Given the description of an element on the screen output the (x, y) to click on. 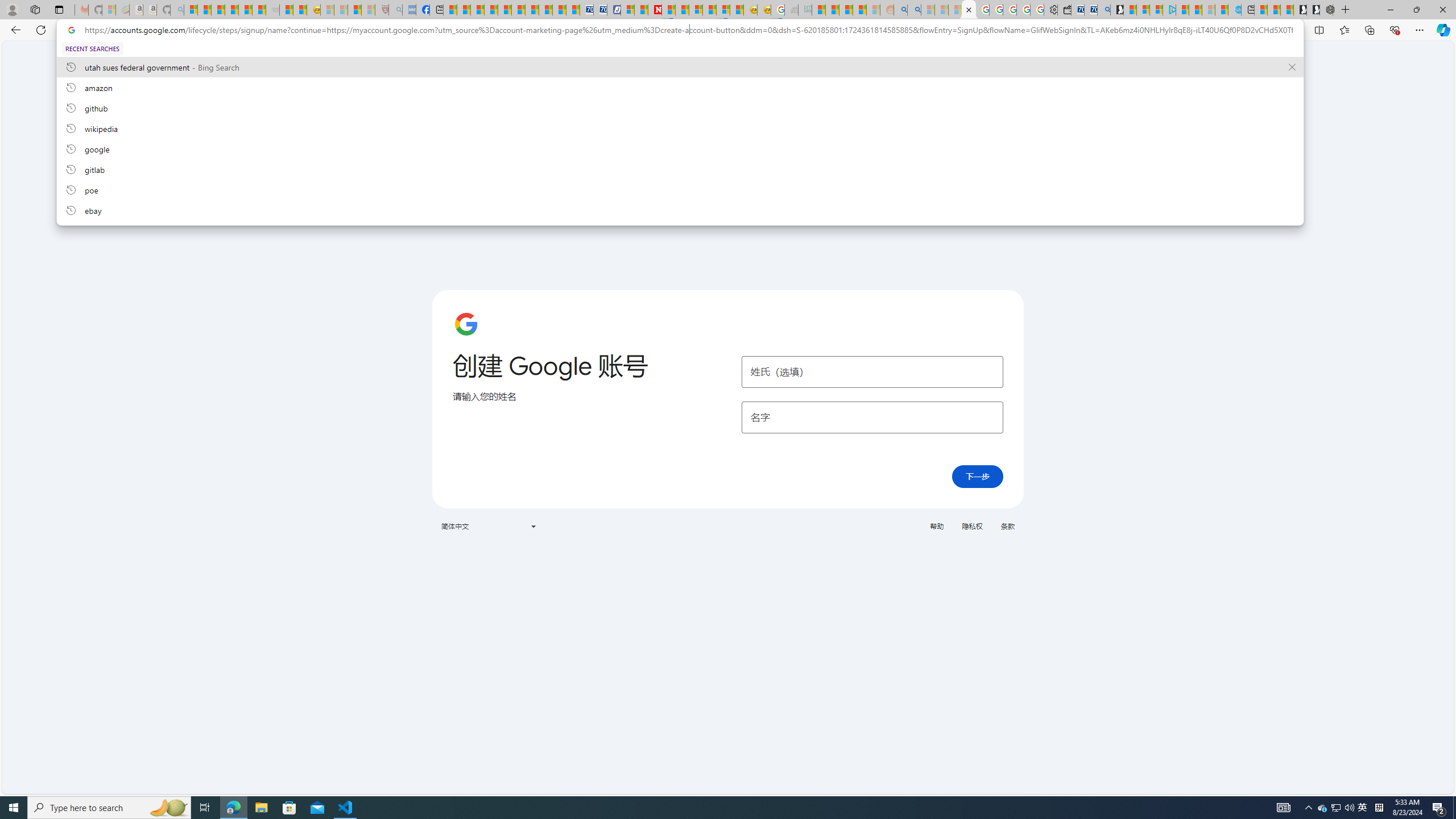
wikipedia, recent searches from history (679, 127)
Utah sues federal government - Search (914, 9)
